Given the description of an element on the screen output the (x, y) to click on. 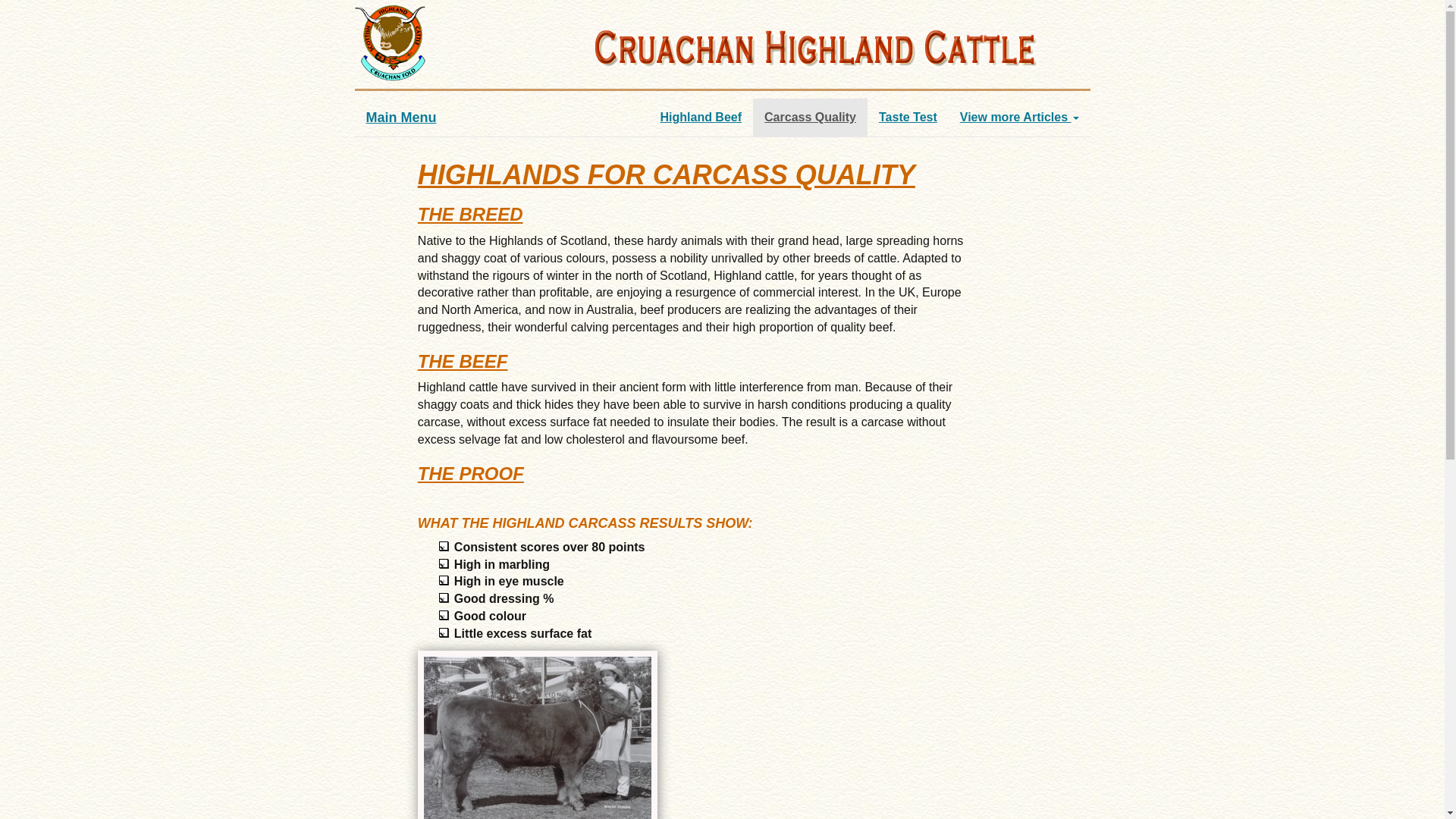
Taste Test Element type: text (907, 117)
Carcass Quality Element type: text (810, 117)
View more Articles Element type: text (1019, 117)
Highland Beef Element type: text (700, 117)
Main Menu Element type: text (401, 117)
